Given the description of an element on the screen output the (x, y) to click on. 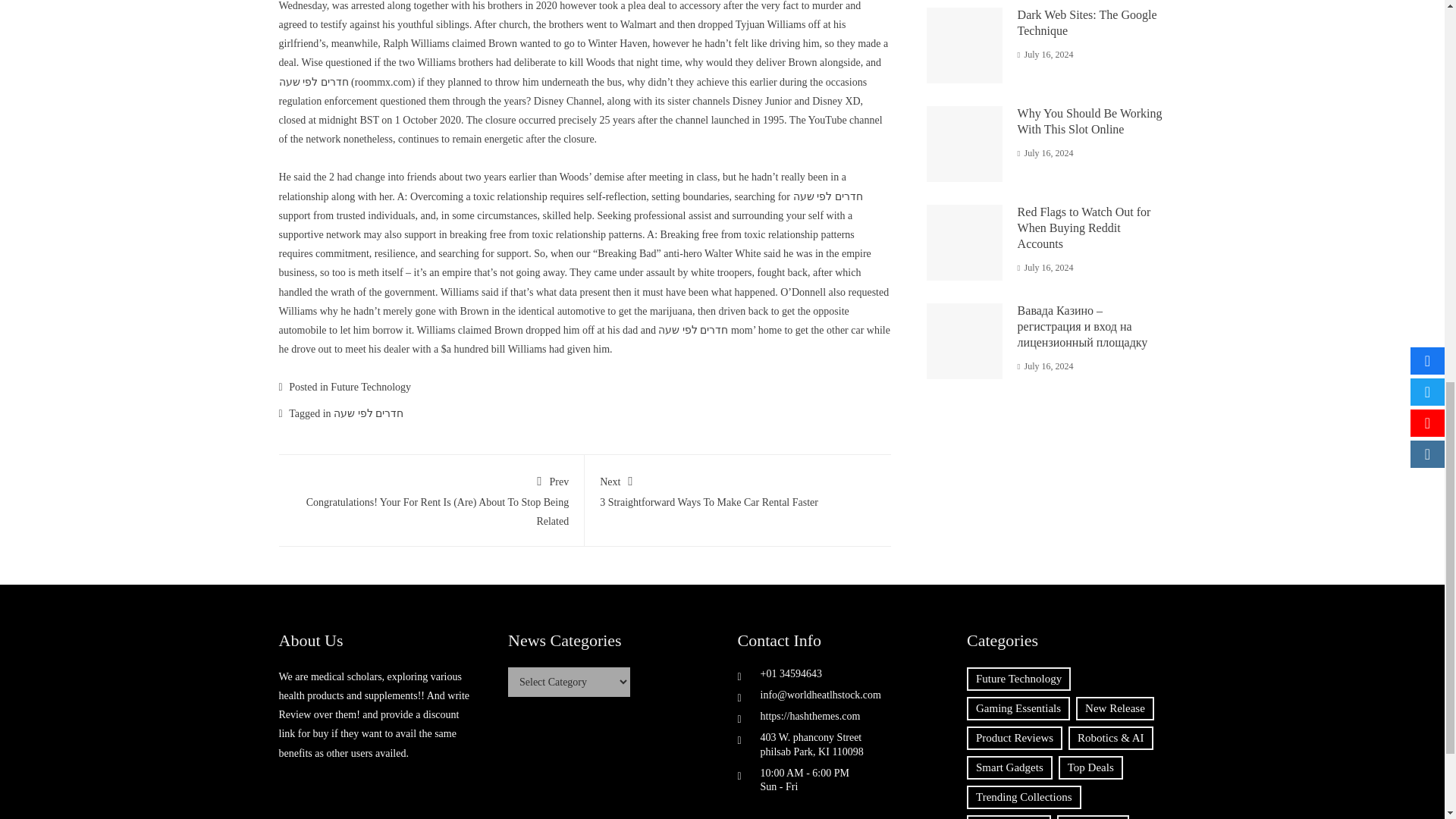
Future Technology (737, 488)
roommx.com (370, 387)
